Given the description of an element on the screen output the (x, y) to click on. 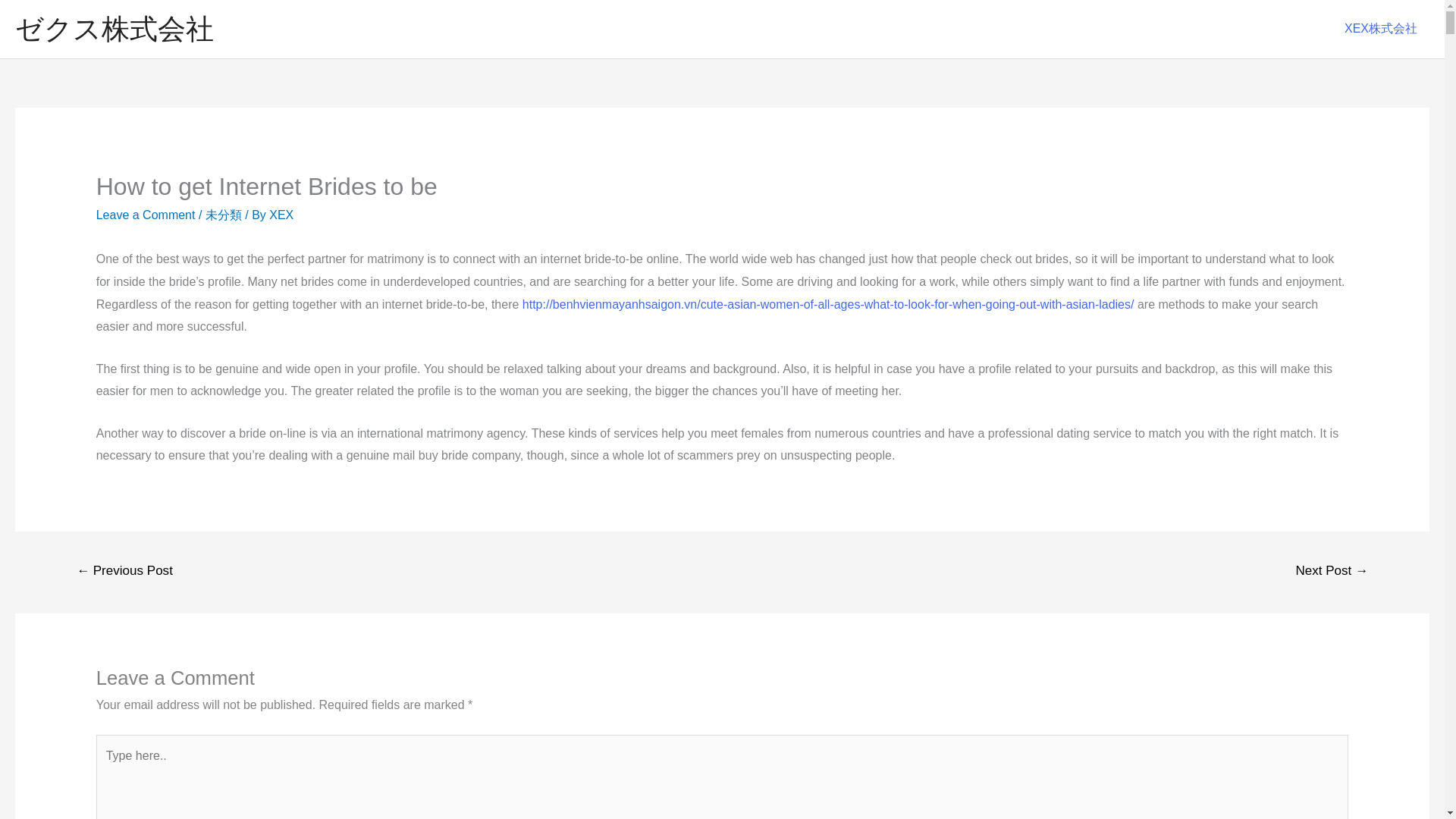
Leave a Comment (145, 214)
XEX (281, 214)
View all posts by XEX (281, 214)
